Given the description of an element on the screen output the (x, y) to click on. 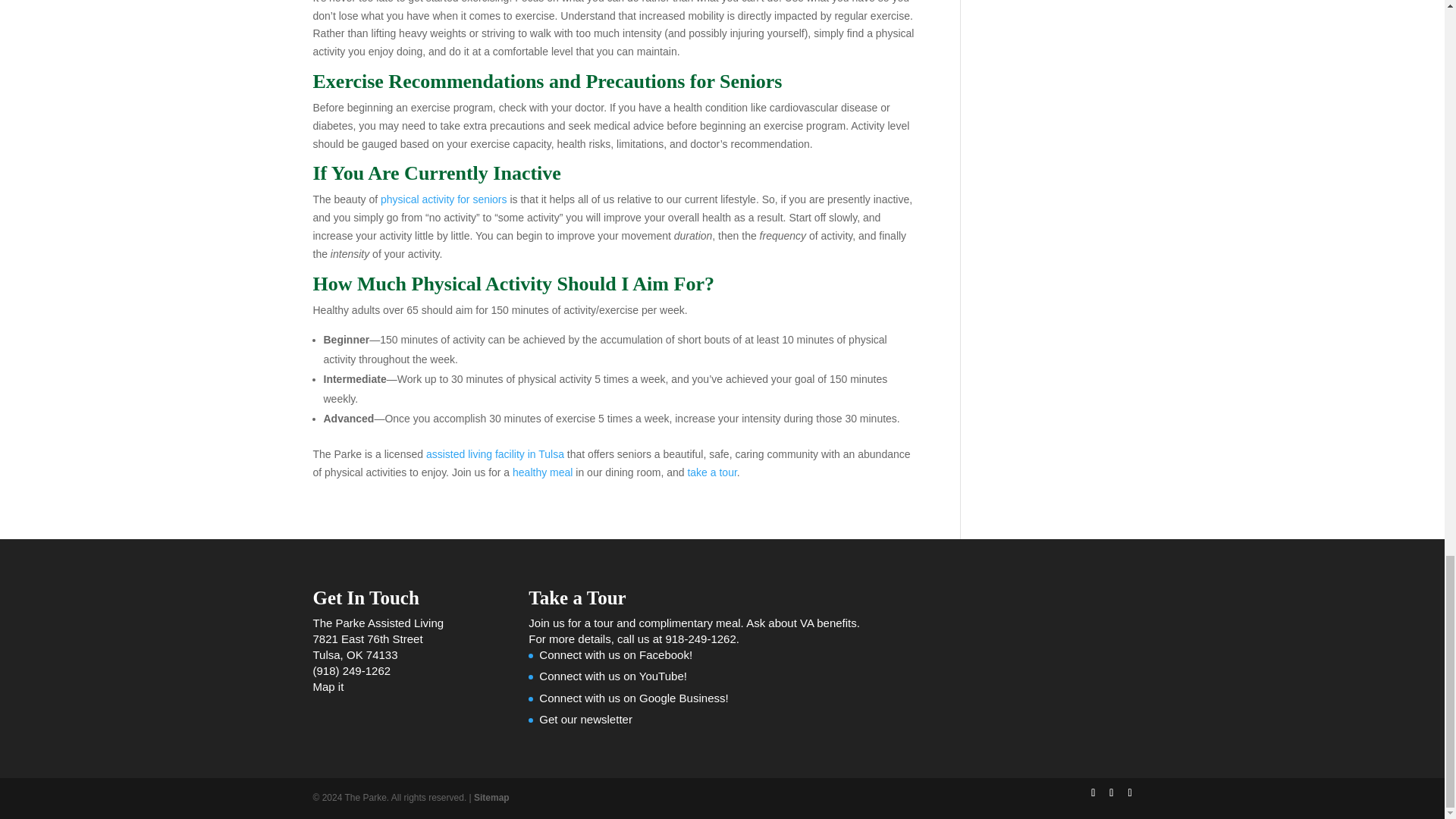
healthy meal (542, 472)
Connect with us on Facebook! (615, 654)
Connect with us on Google Business! (633, 697)
assisted living facility in Tulsa (495, 453)
Map it (328, 686)
Connect with us on YouTube! (612, 675)
Sitemap (491, 797)
Get our newsletter (584, 718)
take a tour (711, 472)
physical activity for seniors (443, 199)
